Given the description of an element on the screen output the (x, y) to click on. 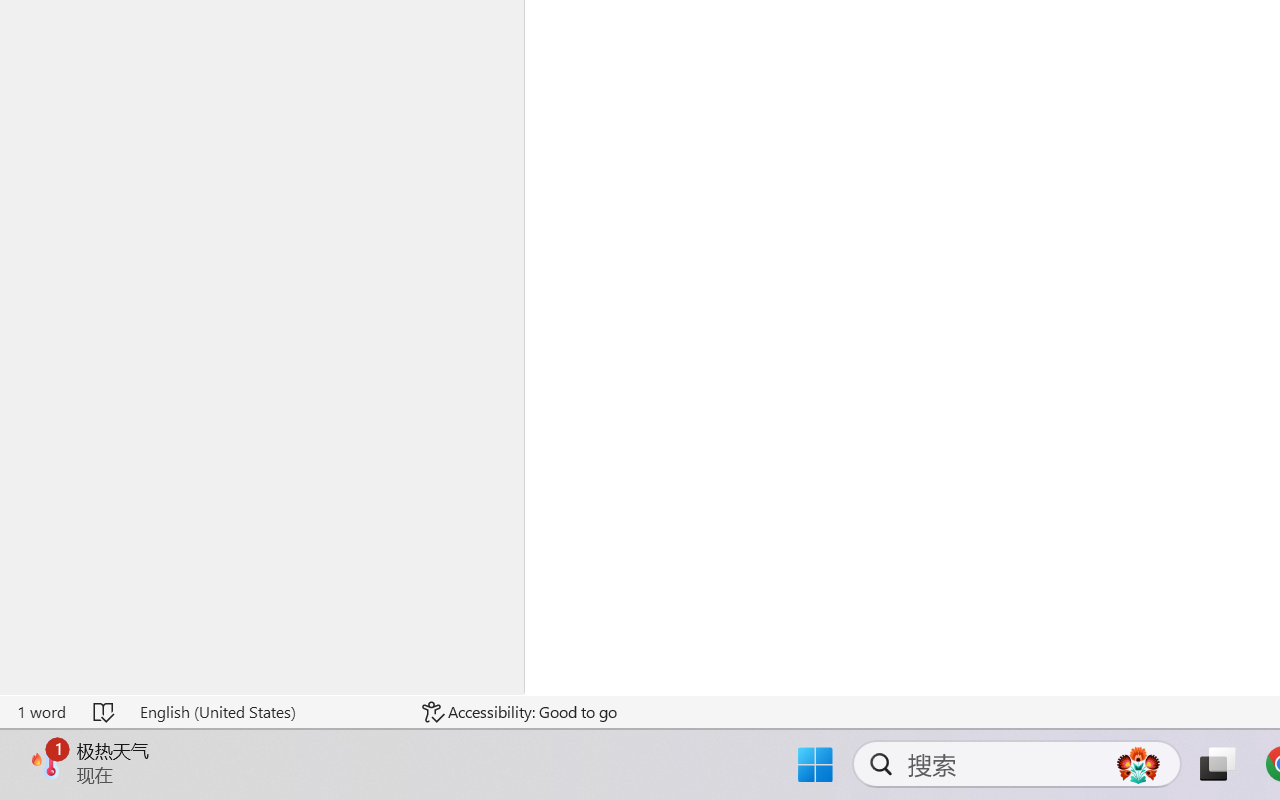
AutomationID: DynamicSearchBoxGleamImage (1138, 764)
Language English (United States) (267, 712)
AutomationID: BadgeAnchorLargeTicker (46, 762)
Spelling and Grammar Check No Errors (105, 712)
Accessibility Checker Accessibility: Good to go (519, 712)
Word Count 1 word (41, 712)
